Given the description of an element on the screen output the (x, y) to click on. 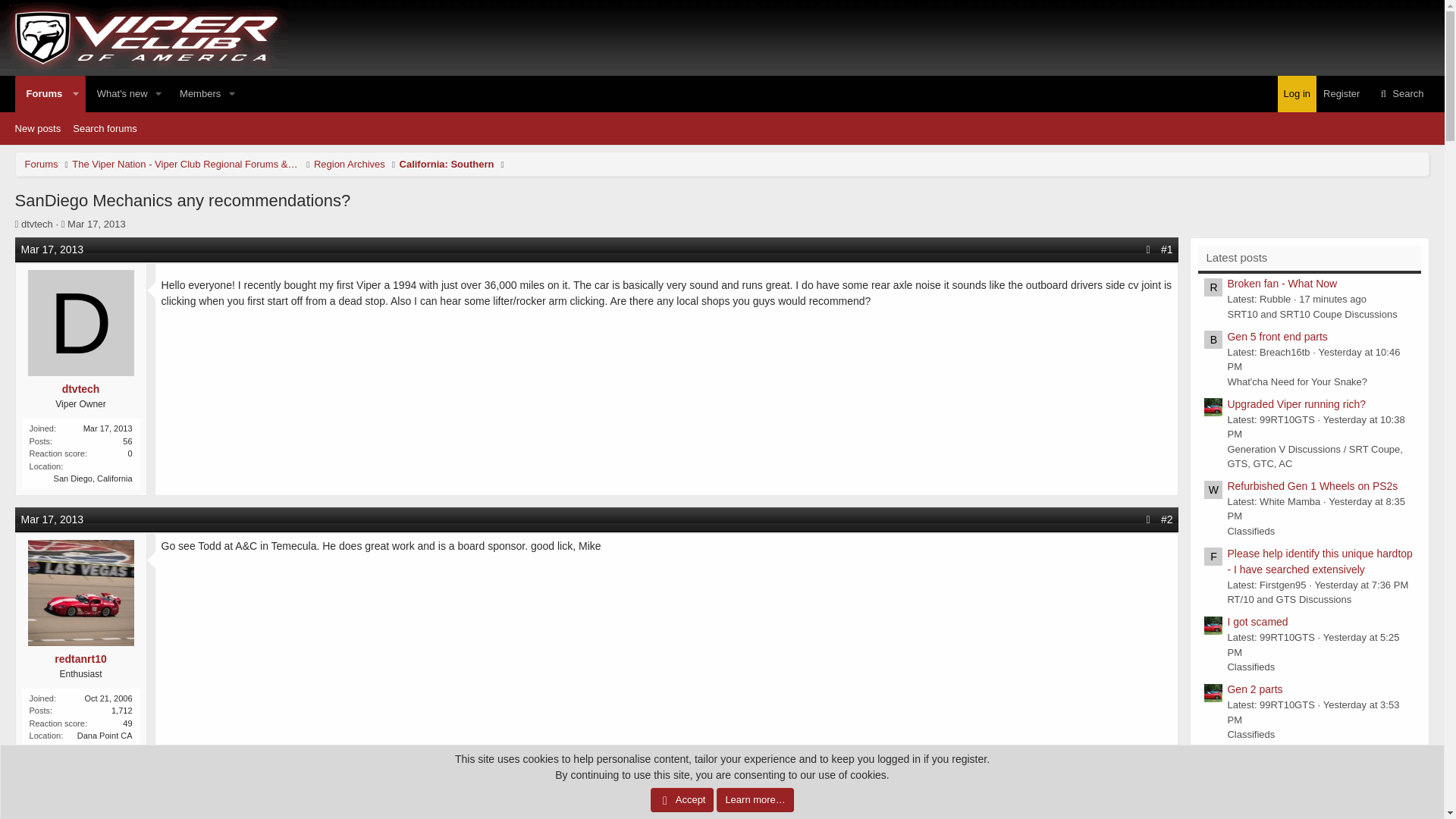
Mar 17, 2013 at 3:25 PM (127, 94)
Search (721, 127)
California: Southern (52, 519)
Members (1400, 94)
Mar 17, 2013 (446, 164)
dtvtech (195, 94)
Region Archives (52, 249)
Mar 17, 2013 at 11:52 AM (36, 224)
Mar 17, 2013 (349, 164)
Search (95, 224)
Forums (95, 224)
New posts (1400, 94)
What's new (40, 94)
